Given the description of an element on the screen output the (x, y) to click on. 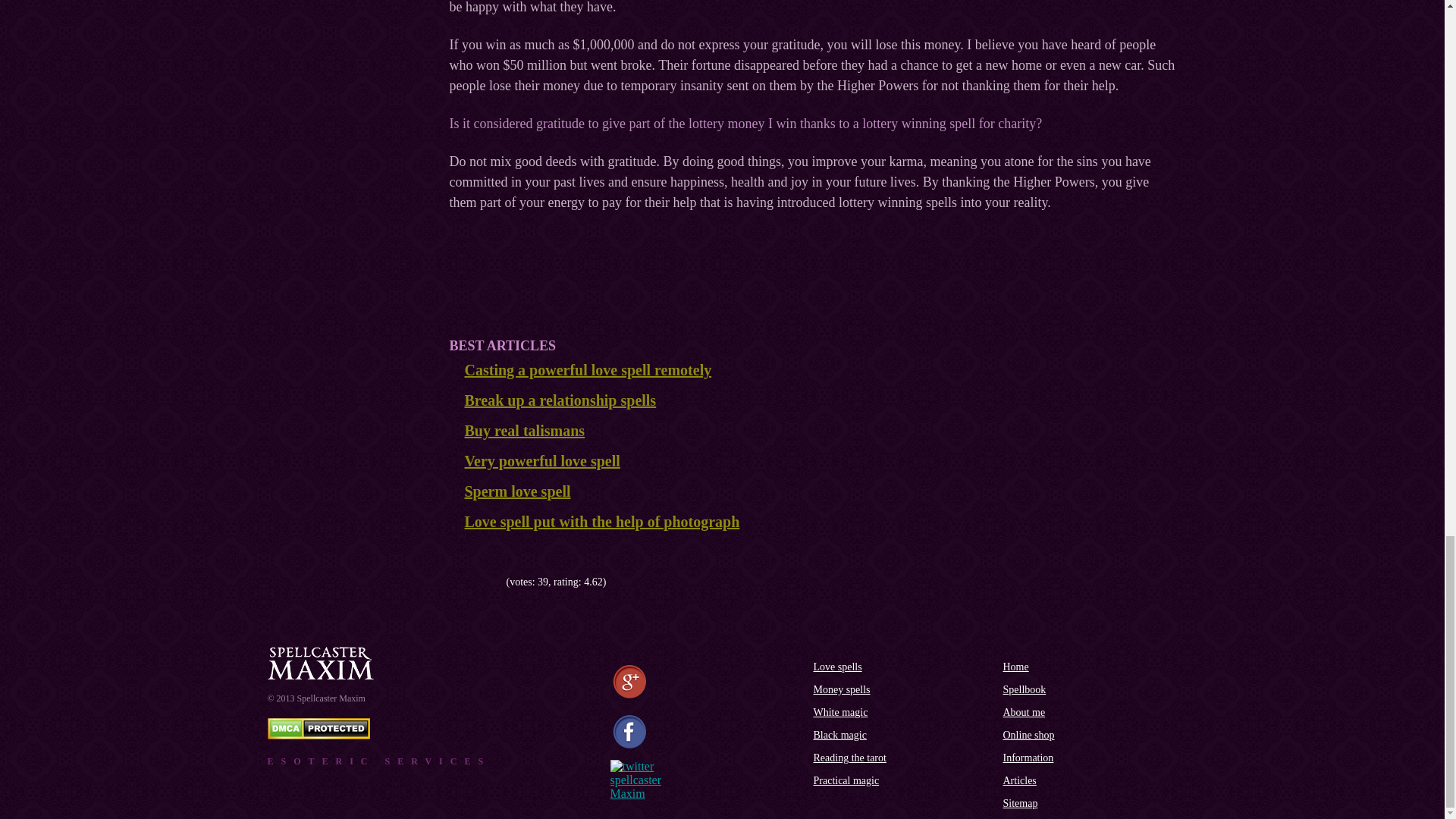
4 (489, 582)
google plus spellcaster Maxim (628, 682)
twitter spellcaster Maxim (635, 780)
3 (477, 582)
1 (454, 582)
2 (466, 582)
5 (500, 582)
